Given the description of an element on the screen output the (x, y) to click on. 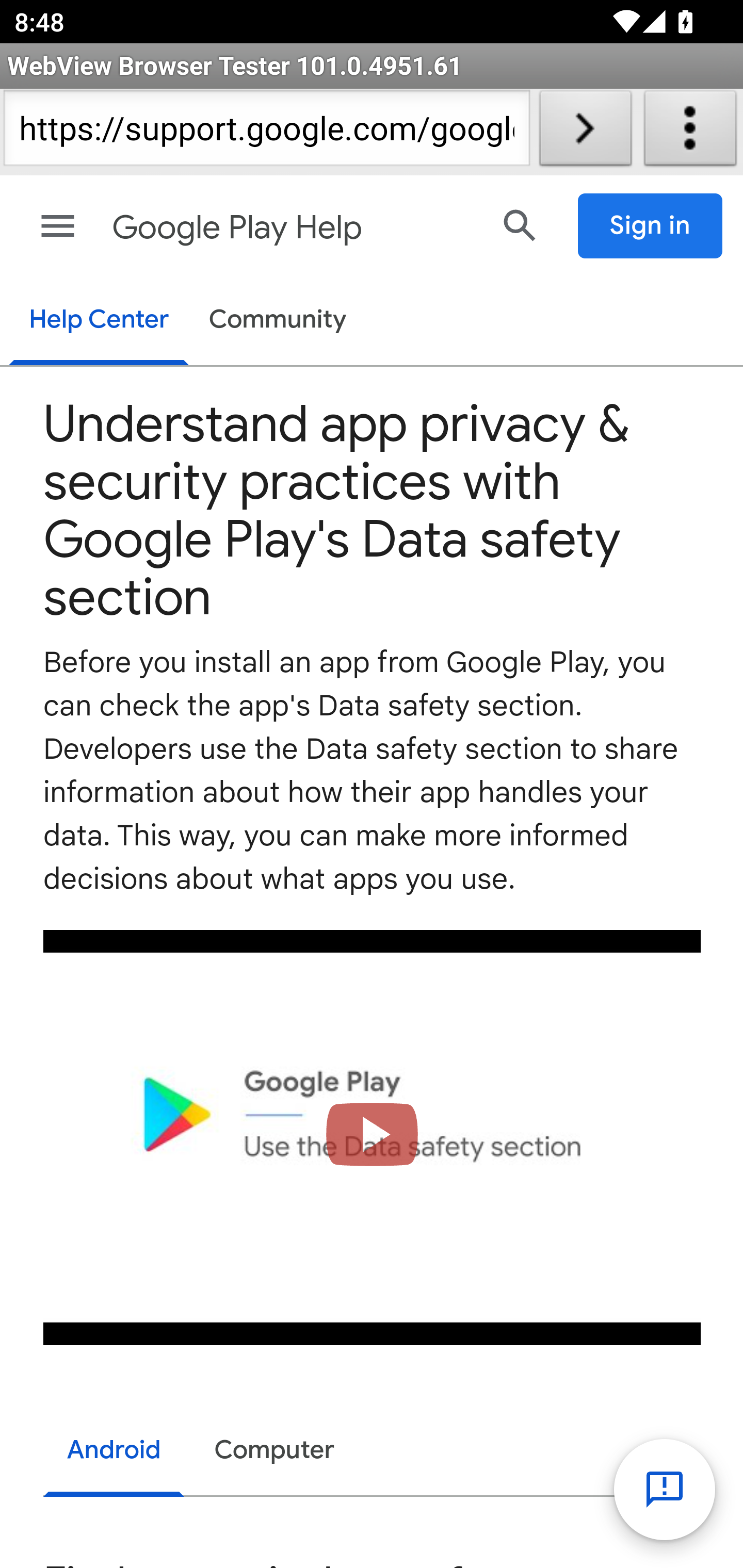
Load URL (585, 132)
About WebView (690, 132)
Main menu (58, 226)
Google Play Help (292, 227)
Search Help Center (519, 225)
Sign in (650, 226)
Help Center (98, 320)
Community (277, 320)
Load video (372, 1137)
Load video (372, 1137)
Android (114, 1452)
Computer (273, 1450)
